Given the description of an element on the screen output the (x, y) to click on. 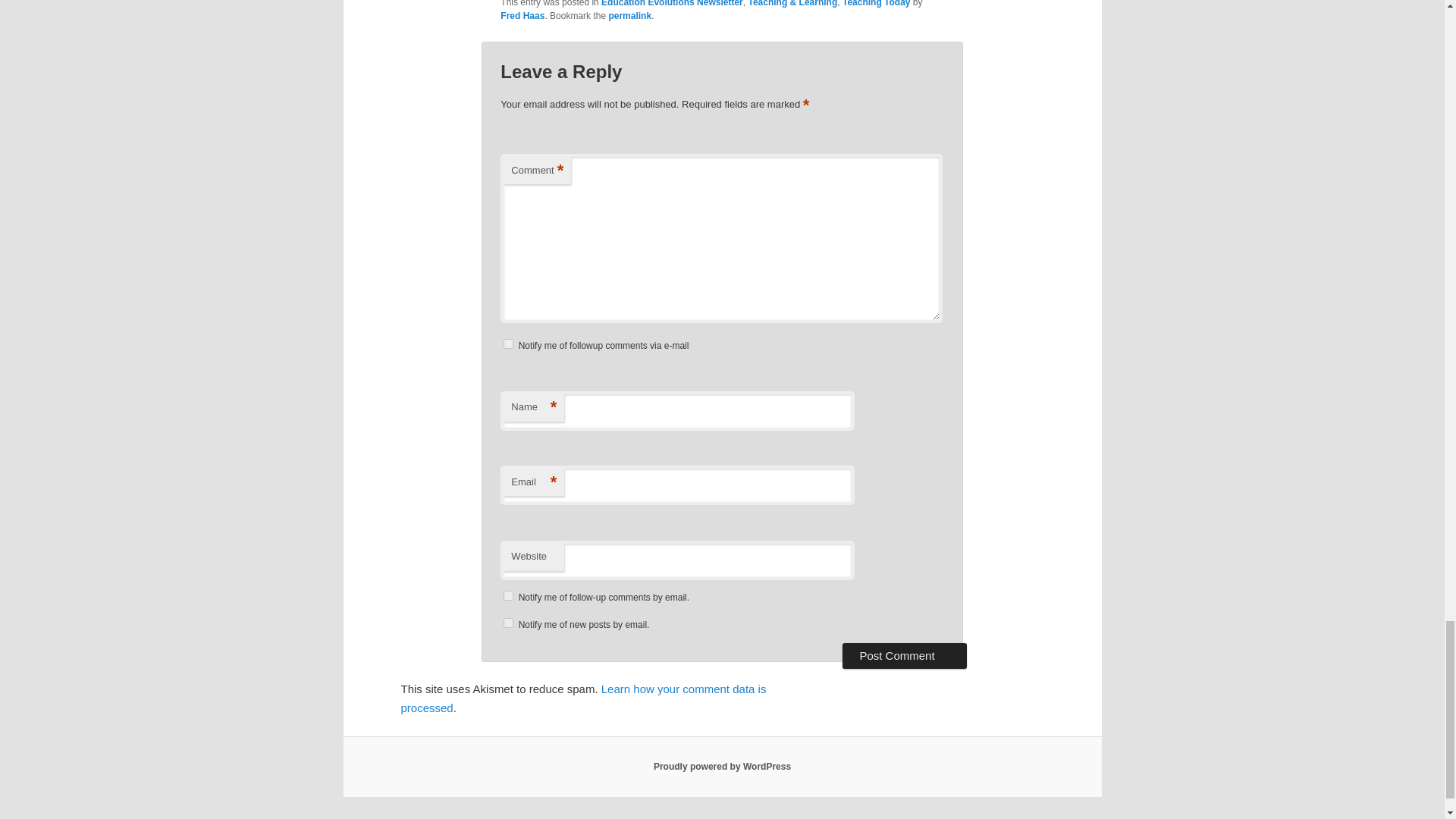
Proudly powered by WordPress (721, 766)
permalink (629, 15)
Learn how your comment data is processed (582, 697)
Teaching Today (877, 3)
subscribe (508, 343)
subscribe (508, 595)
Fred Haas (522, 15)
Post Comment (904, 655)
Education Evolutions Newsletter (671, 3)
subscribe (508, 623)
